Given the description of an element on the screen output the (x, y) to click on. 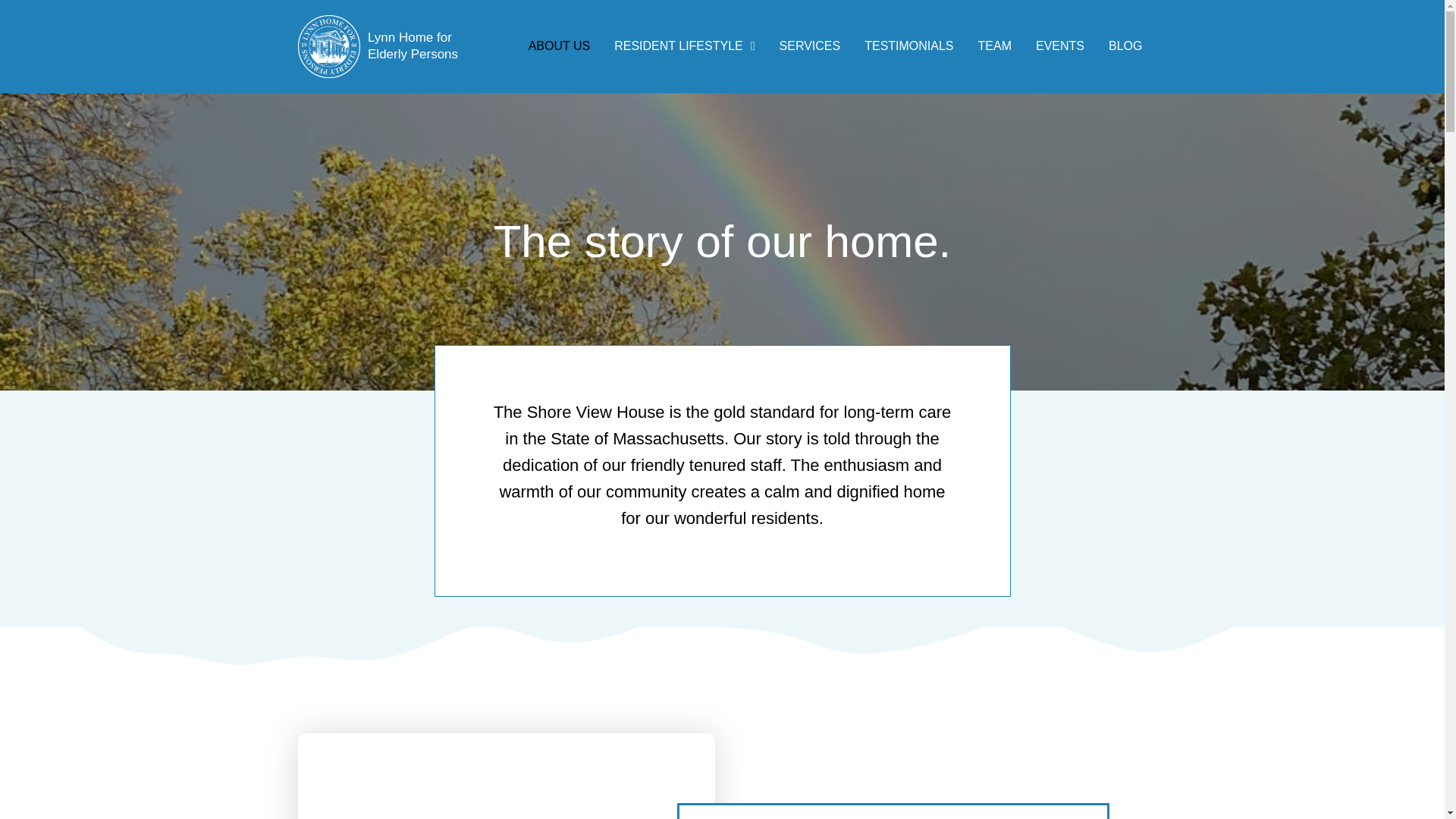
SERVICES (810, 46)
EVENTS (1059, 46)
Lynn Home for Elderly Persons (413, 45)
ABOUT US (559, 46)
TESTIMONIALS (908, 46)
BLOG (1125, 46)
TEAM (994, 46)
RESIDENT LIFESTYLE (684, 46)
